Given the description of an element on the screen output the (x, y) to click on. 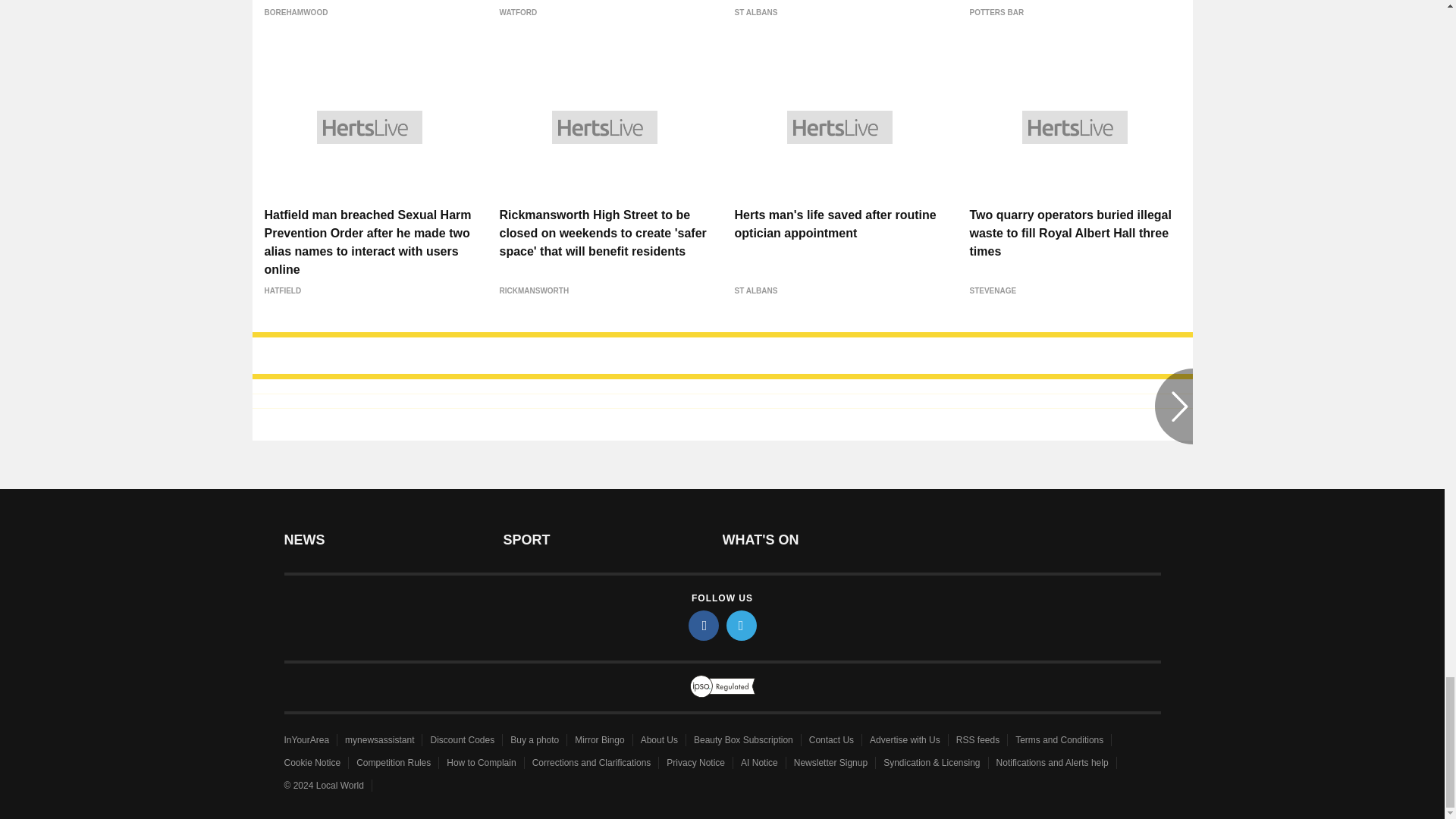
facebook (703, 625)
twitter (741, 625)
